Given the description of an element on the screen output the (x, y) to click on. 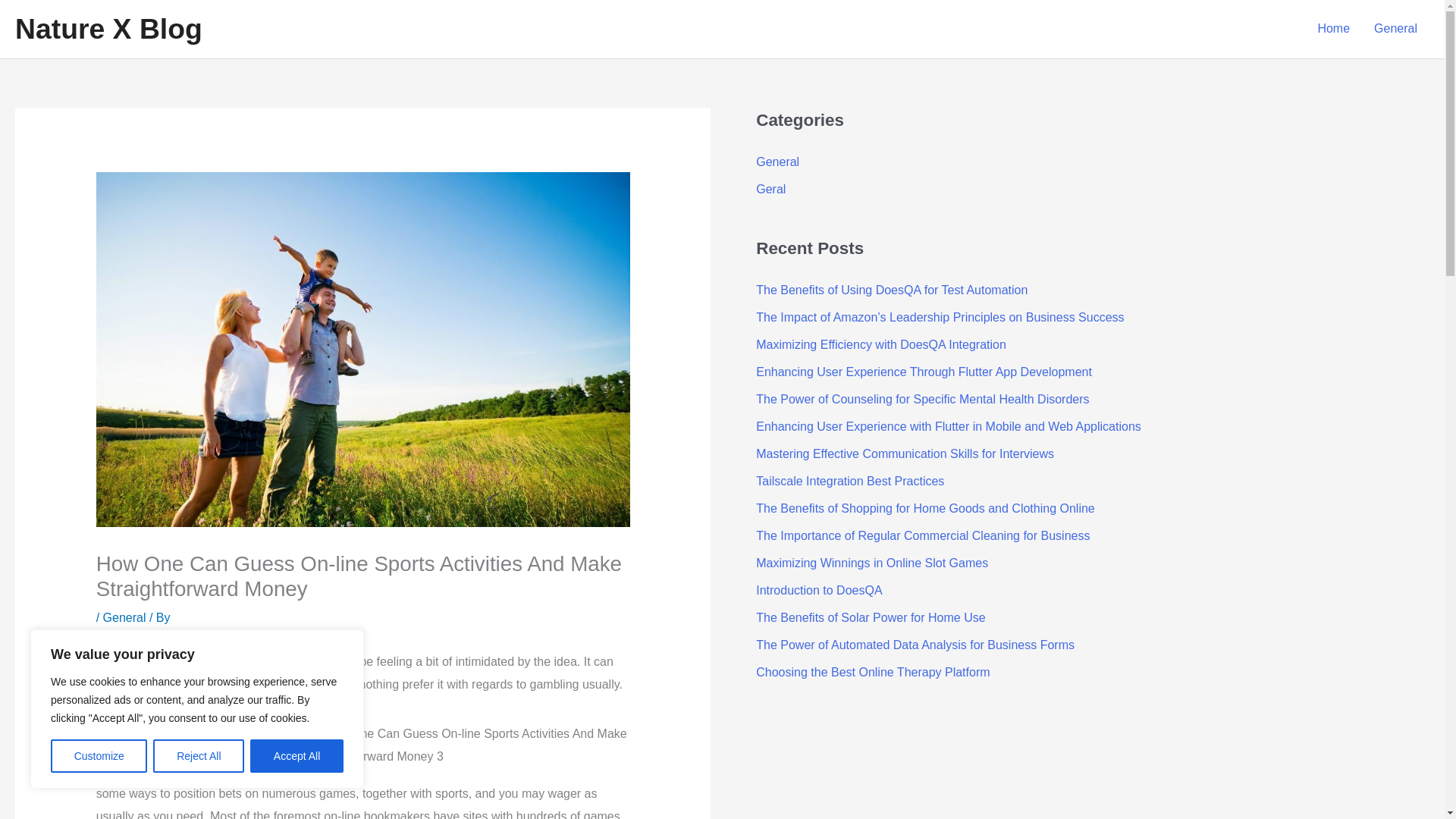
General (125, 617)
Reject All (198, 756)
Customize (98, 756)
Geral (770, 188)
Nature X Blog (108, 29)
General (777, 161)
Maximizing Efficiency with DoesQA Integration (880, 344)
Home (1332, 28)
The Benefits of Using DoesQA for Test Automation (891, 289)
Accept All (296, 756)
